Given the description of an element on the screen output the (x, y) to click on. 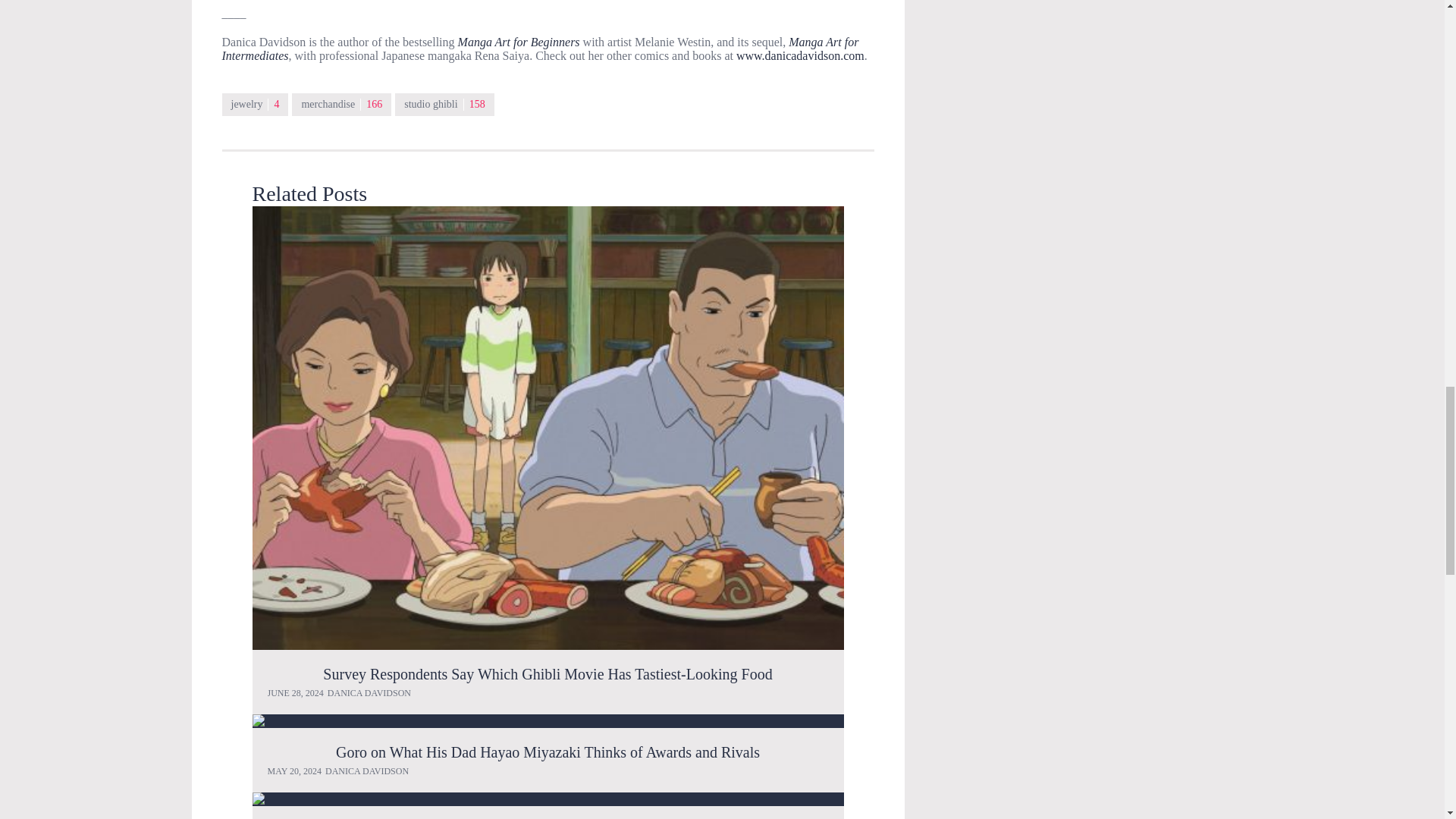
Manga Art for Intermediates (540, 49)
jewelry 4 (254, 104)
www.danicadavidson.com (800, 55)
merchandise 166 (341, 104)
Manga Art for Beginners (520, 42)
